Given the description of an element on the screen output the (x, y) to click on. 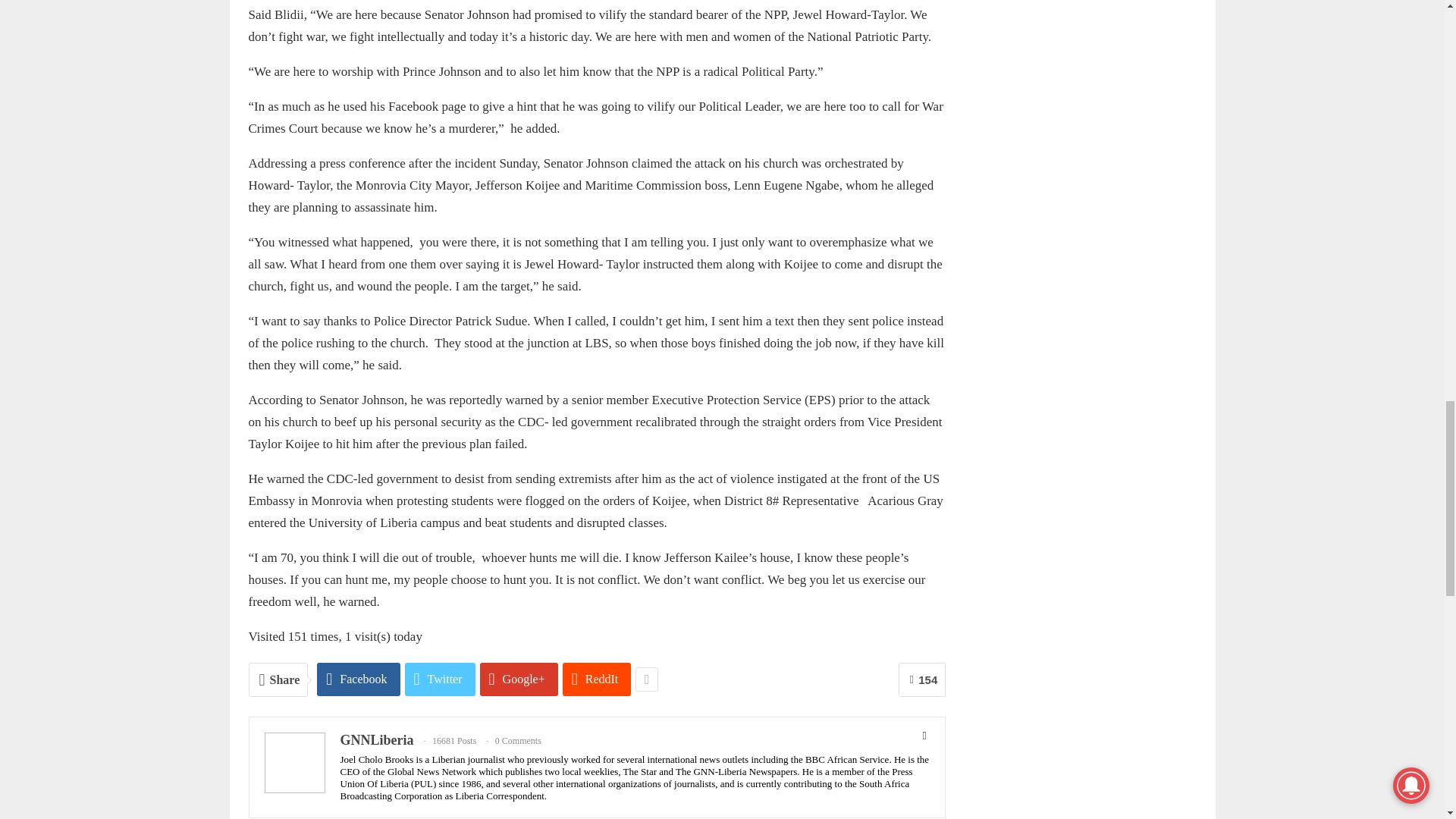
ReddIt (596, 679)
GNNLiberia (376, 739)
Twitter (440, 679)
Facebook (357, 679)
